Given the description of an element on the screen output the (x, y) to click on. 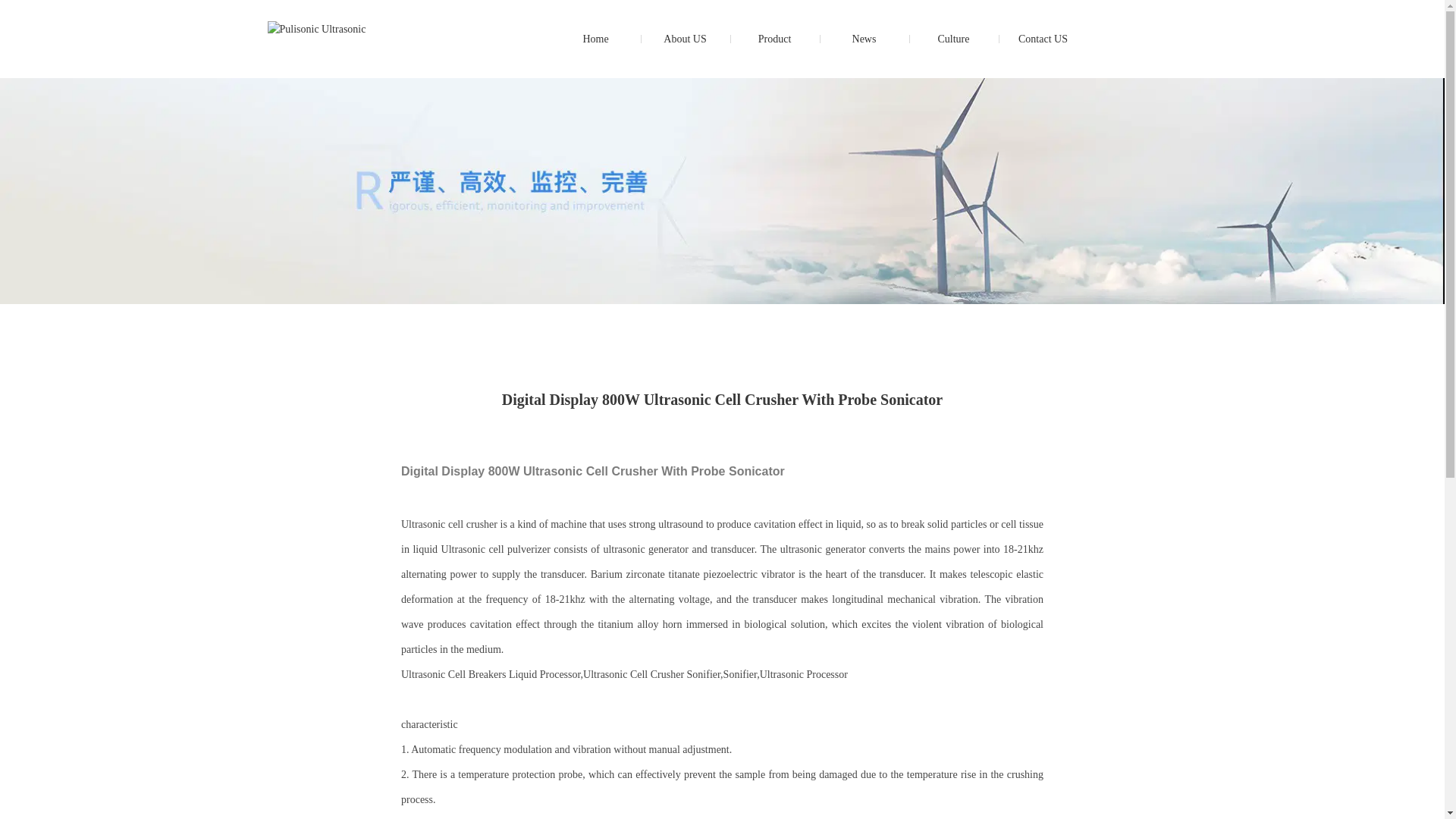
digital ultrasonic generator (315, 29)
Product (773, 38)
Culture (952, 38)
Home (594, 38)
Contact US (1042, 38)
About US (684, 38)
digital ultrasonic generator (594, 38)
News (863, 38)
